Given the description of an element on the screen output the (x, y) to click on. 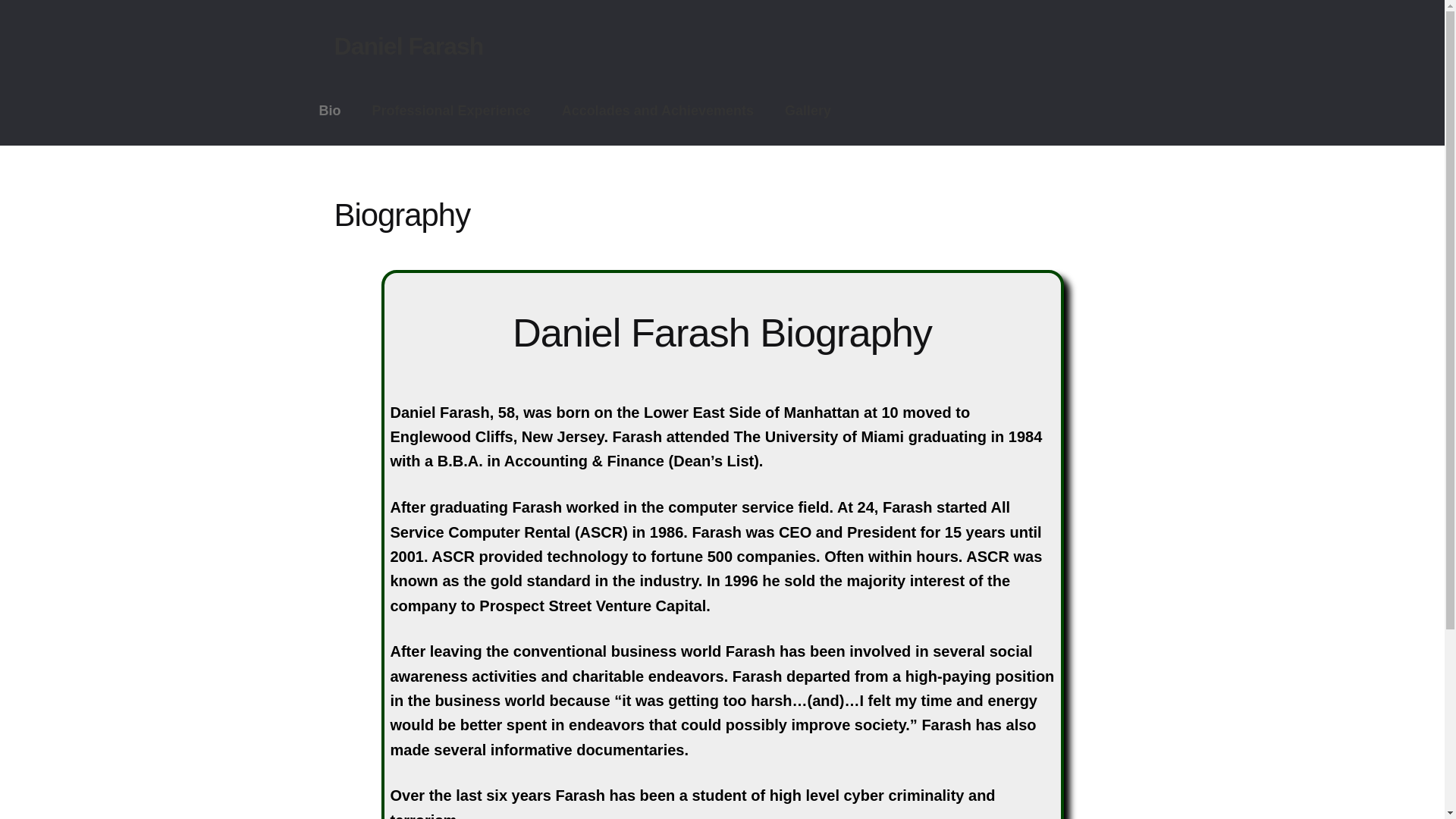
Professional Experience (451, 110)
Gallery (807, 110)
Accolades and Achievements (657, 110)
Daniel Farash (408, 45)
